Given the description of an element on the screen output the (x, y) to click on. 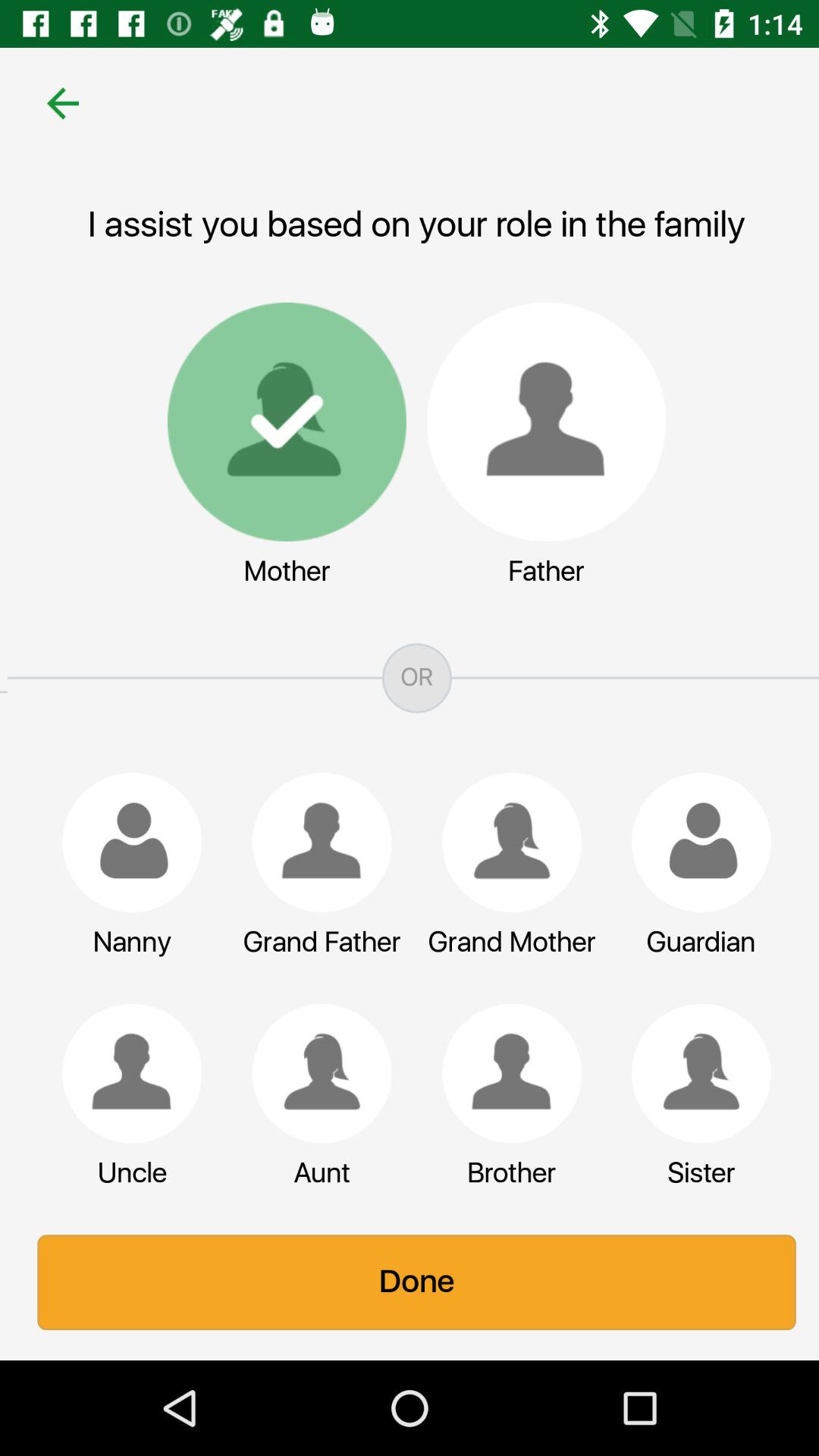
launch the item above the uncle (124, 1073)
